Given the description of an element on the screen output the (x, y) to click on. 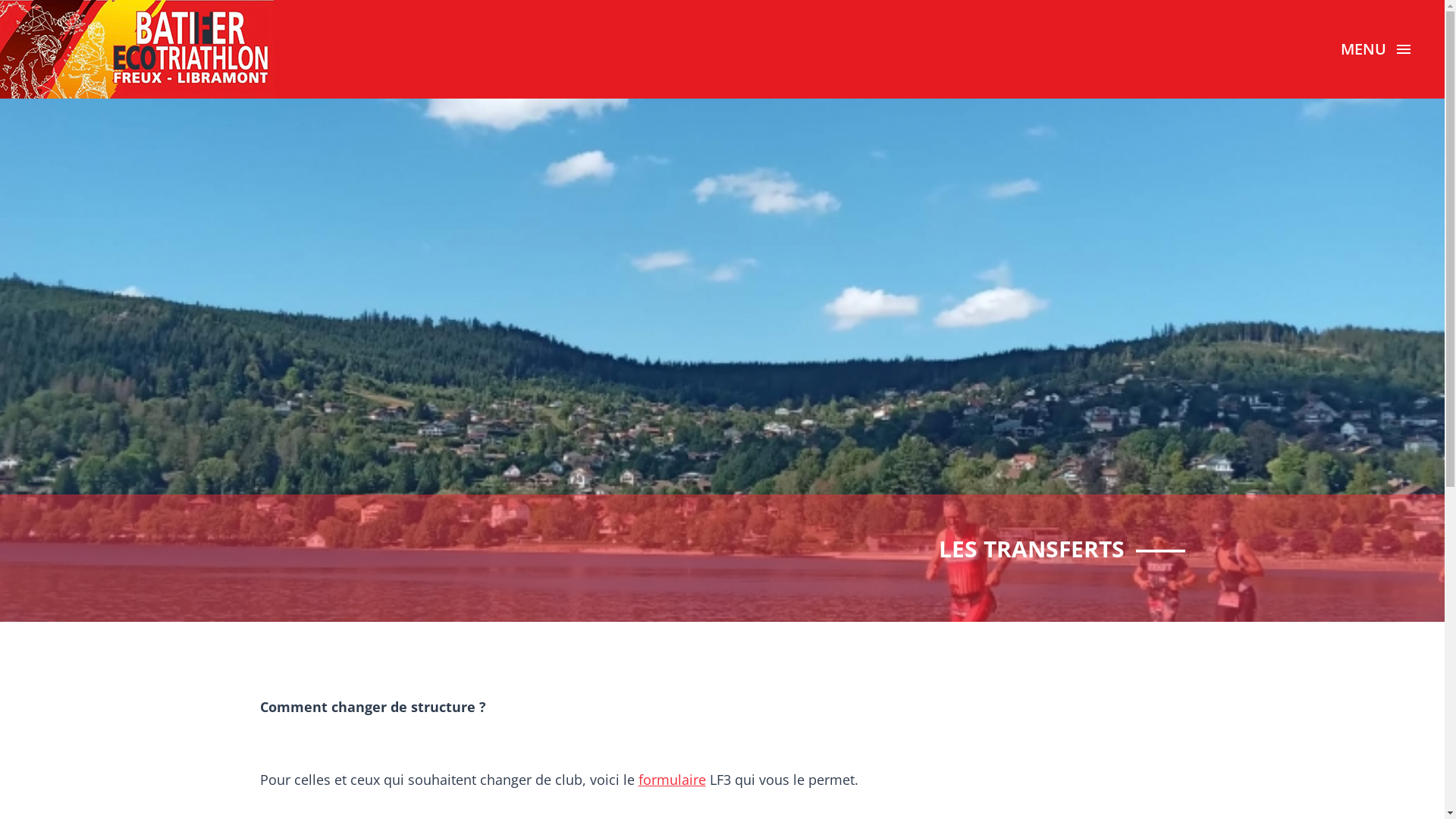
formulaire Element type: text (672, 779)
MENU Element type: text (1375, 48)
